Given the description of an element on the screen output the (x, y) to click on. 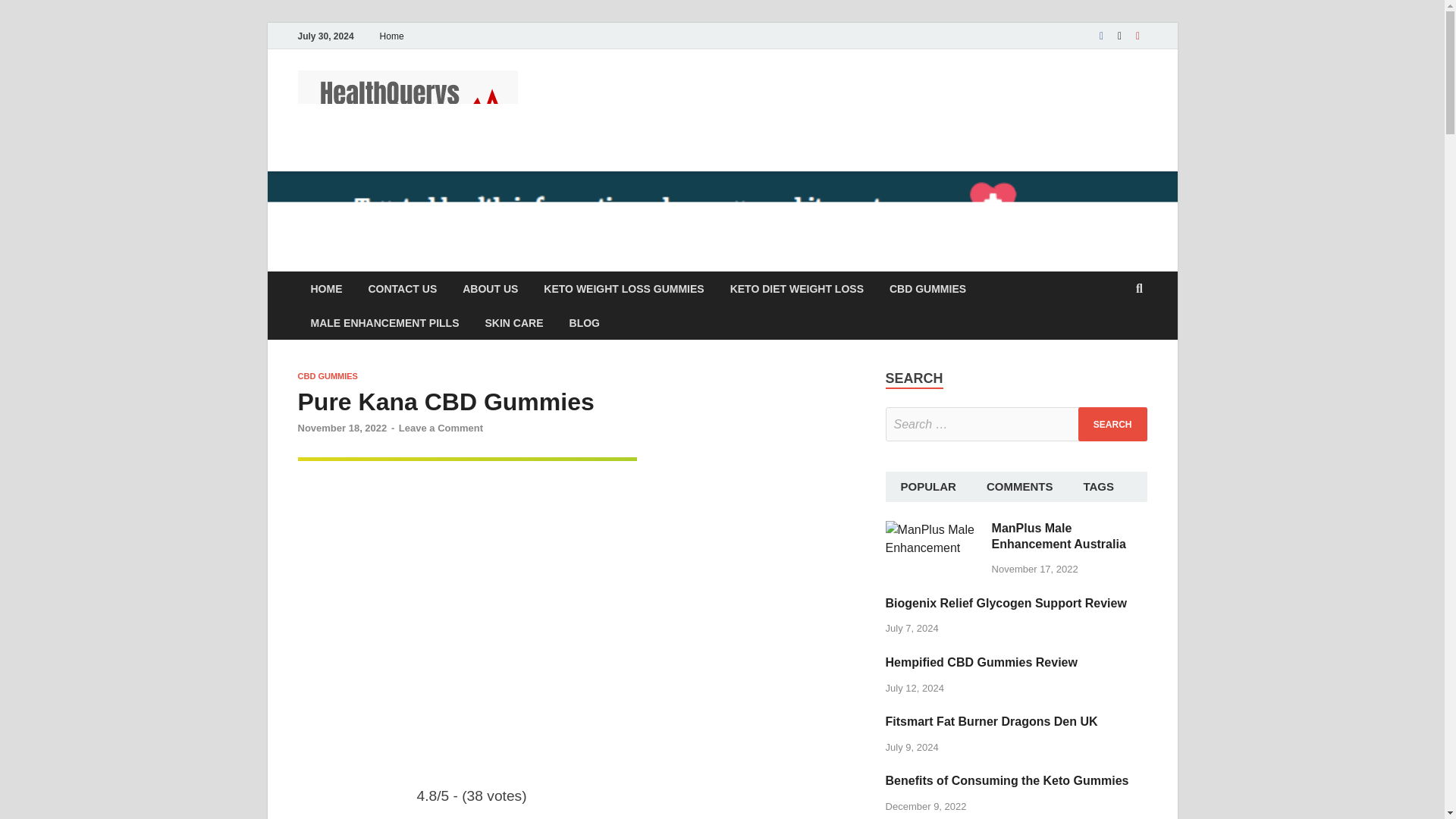
Search (1112, 424)
MALE ENHANCEMENT PILLS (384, 322)
SKIN CARE (513, 322)
CBD GUMMIES (326, 375)
KETO DIET WEIGHT LOSS (796, 288)
KETO WEIGHT LOSS GUMMIES (623, 288)
CBD GUMMIES (927, 288)
Home (391, 35)
Search (1112, 424)
BLOG (584, 322)
CONTACT US (402, 288)
Leave a Comment (440, 428)
ABOUT US (490, 288)
HOME (326, 288)
November 18, 2022 (342, 428)
